Given the description of an element on the screen output the (x, y) to click on. 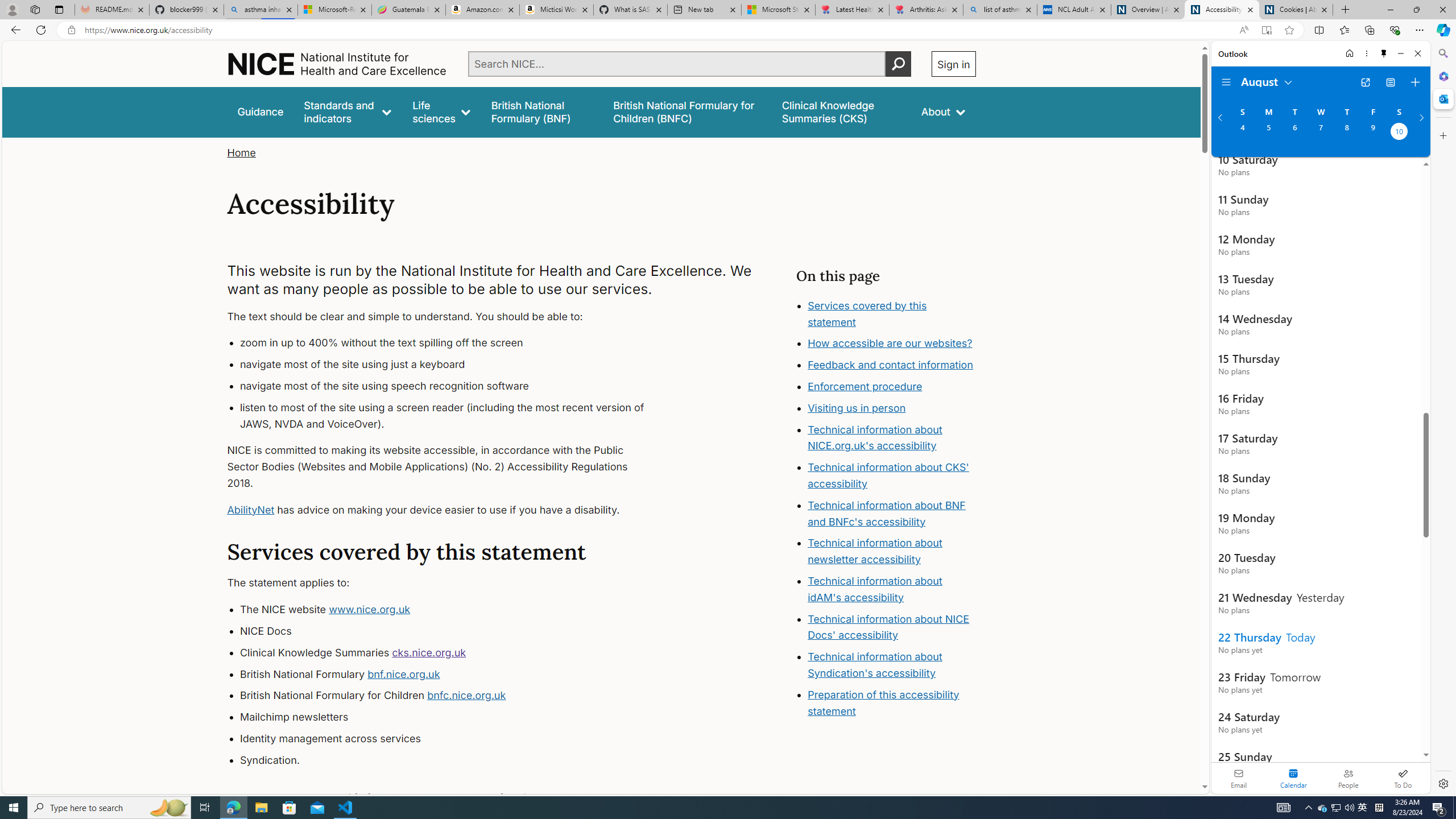
Preparation of this accessibility statement (891, 702)
Technical information about NICE.org.uk's accessibility (875, 437)
navigate most of the site using just a keyboard (452, 364)
NICE Docs (452, 630)
Sunday, August 4, 2024.  (1242, 132)
Unpin side pane (1383, 53)
Technical information about CKS' accessibility (888, 475)
Mailchimp newsletters (452, 717)
